Given the description of an element on the screen output the (x, y) to click on. 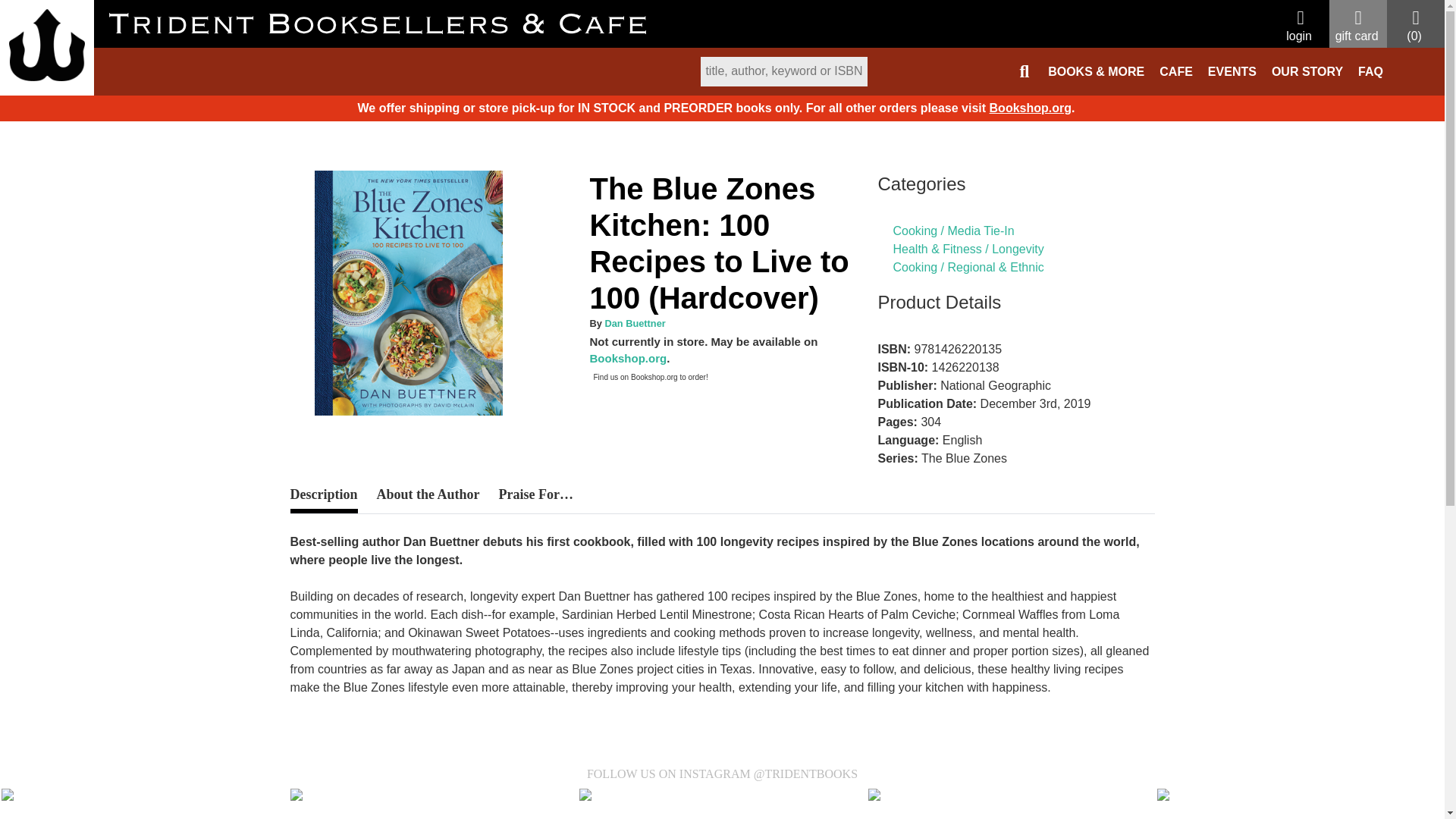
Home (47, 45)
EVENTS (1231, 71)
FAQ (1370, 71)
OUR STORY (1307, 71)
gift card (1358, 26)
Bookshop.org (627, 358)
login (1300, 26)
Home (305, 114)
Description (322, 500)
About the Author (427, 494)
CAFE (1175, 71)
Dan Buettner (634, 322)
Bookshop.org (1030, 108)
Search (799, 79)
Enter the terms you wish to search for. (783, 71)
